Given the description of an element on the screen output the (x, y) to click on. 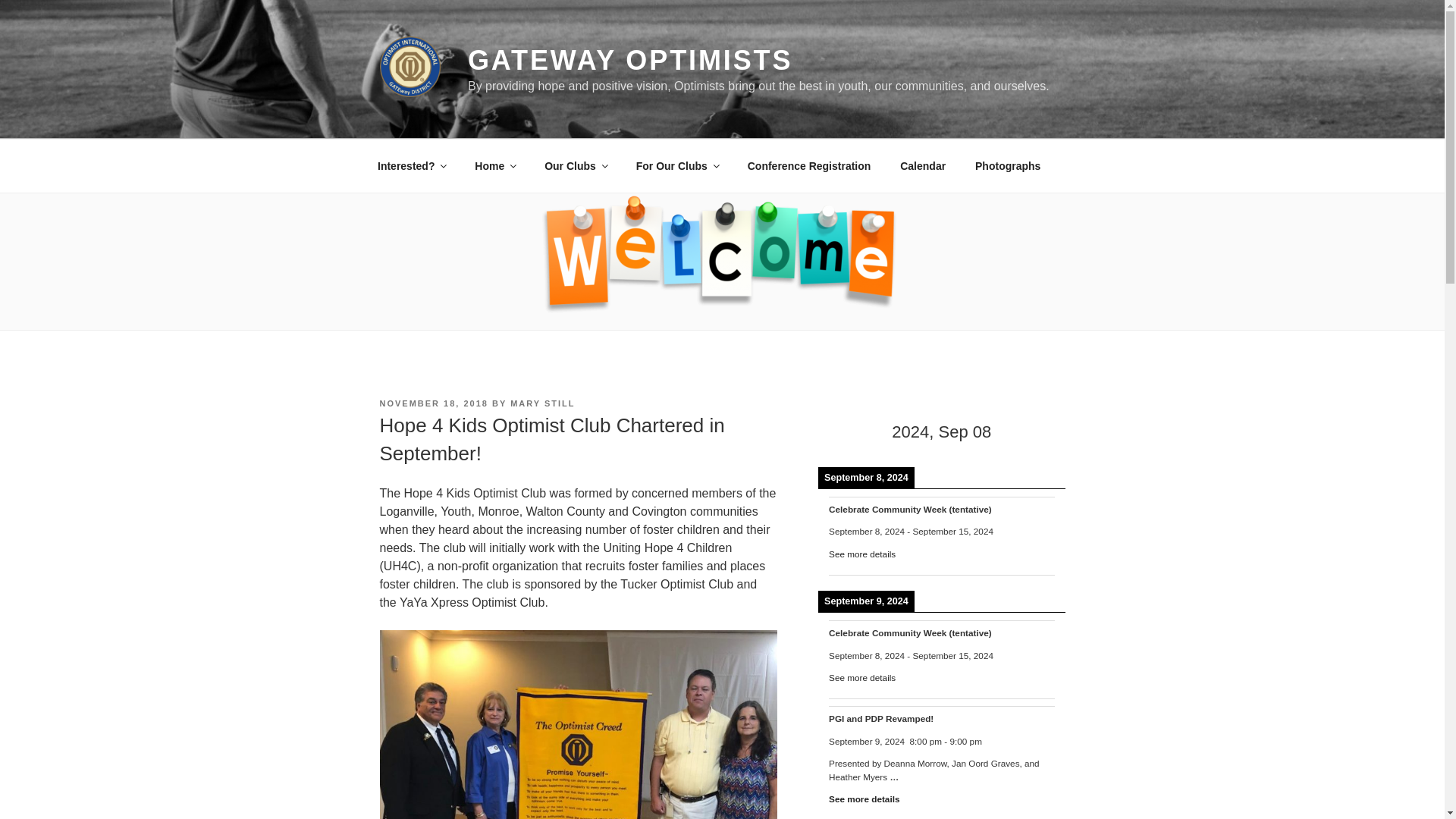
For Our Clubs (676, 165)
Next (1039, 432)
GATEWAY OPTIMISTS (629, 60)
Previous (842, 432)
Our Clubs (575, 165)
Interested? (411, 165)
Home (494, 165)
